Given the description of an element on the screen output the (x, y) to click on. 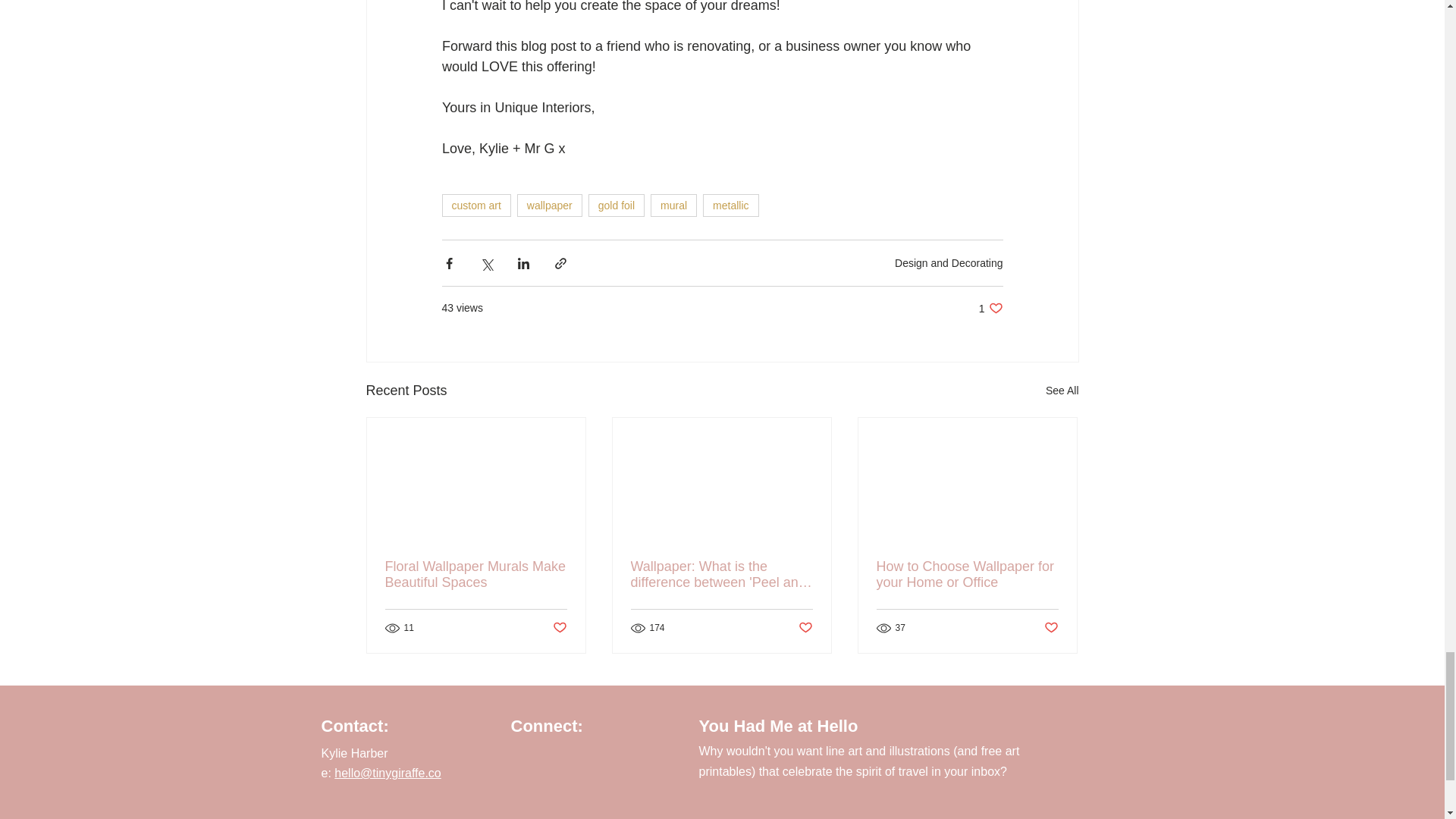
wallpaper (990, 308)
Floral Wallpaper Murals Make Beautiful Spaces (549, 205)
gold foil (476, 574)
mural (616, 205)
metallic (673, 205)
See All (730, 205)
Design and Decorating (1061, 391)
custom art (949, 263)
Post not marked as liked (476, 205)
